Given the description of an element on the screen output the (x, y) to click on. 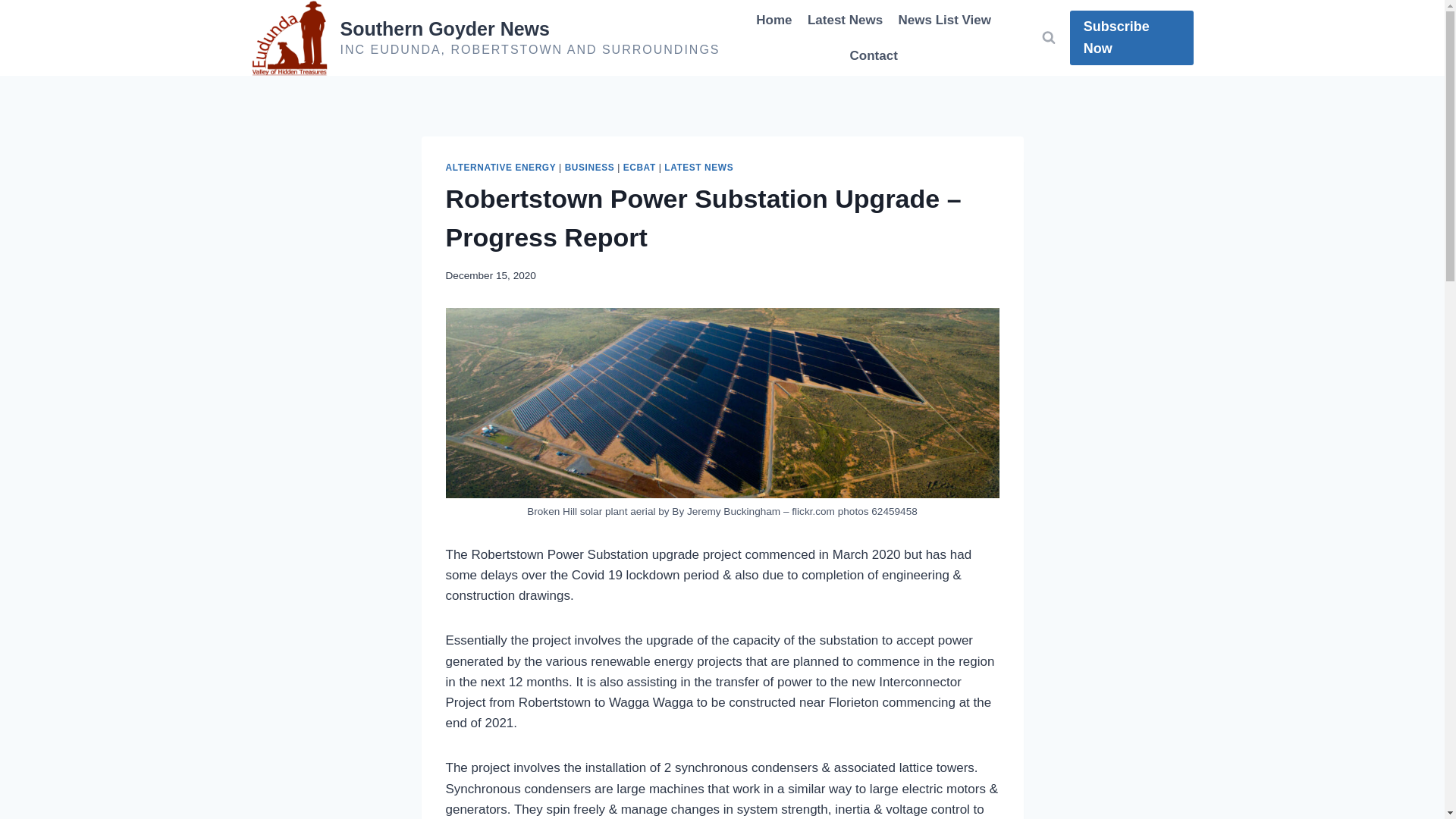
Latest News (845, 19)
ECBAT (639, 167)
Contact (873, 55)
BUSINESS (589, 167)
Home (773, 19)
ALTERNATIVE ENERGY (500, 167)
News List View (943, 19)
LATEST NEWS (698, 167)
Subscribe Now (1131, 37)
